Given the description of an element on the screen output the (x, y) to click on. 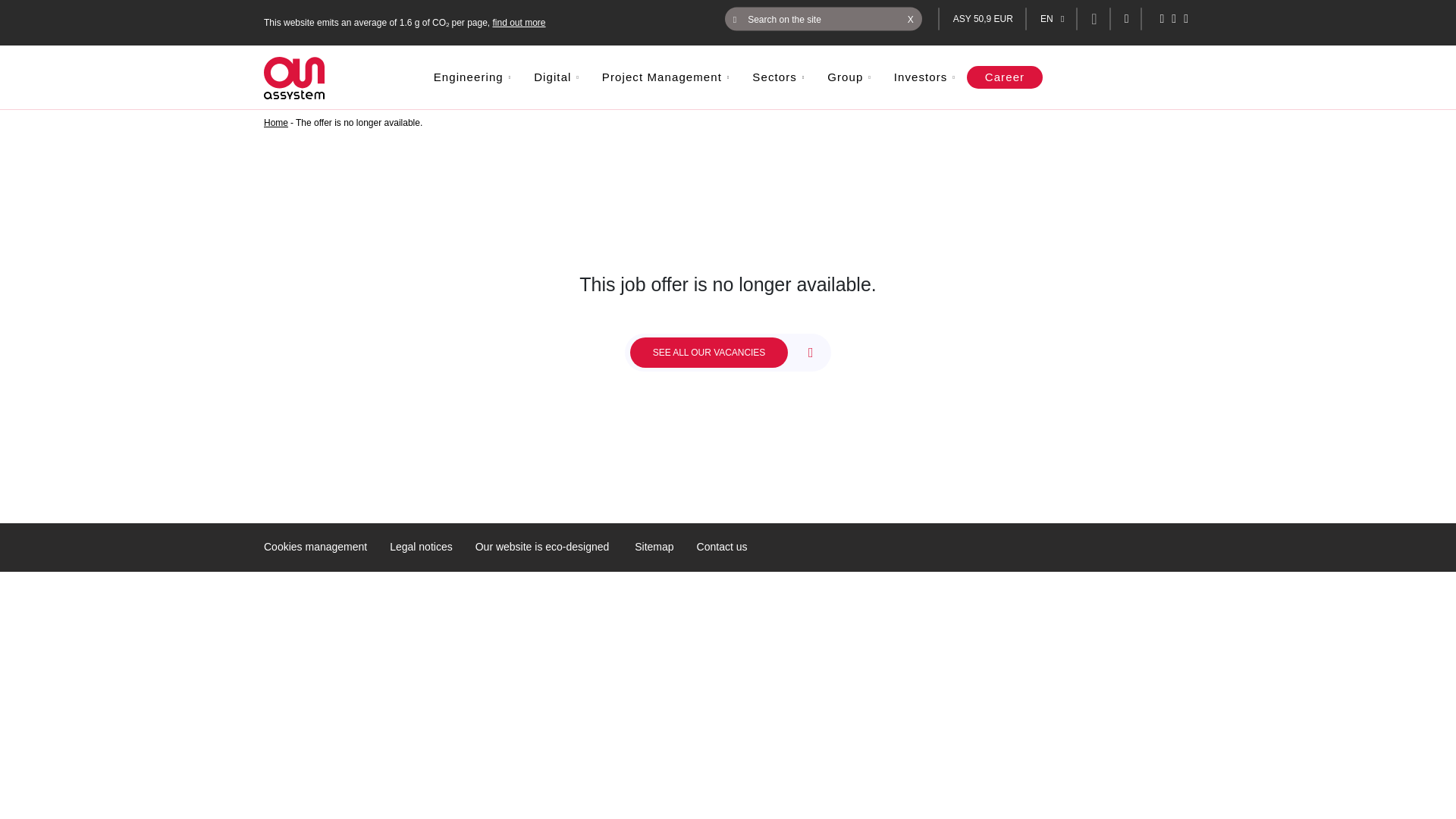
find out more (519, 22)
Assystem Share (983, 18)
ASY 50,9 EUR (983, 18)
Engineering (472, 76)
EN (1052, 19)
Digital (556, 76)
